Given the description of an element on the screen output the (x, y) to click on. 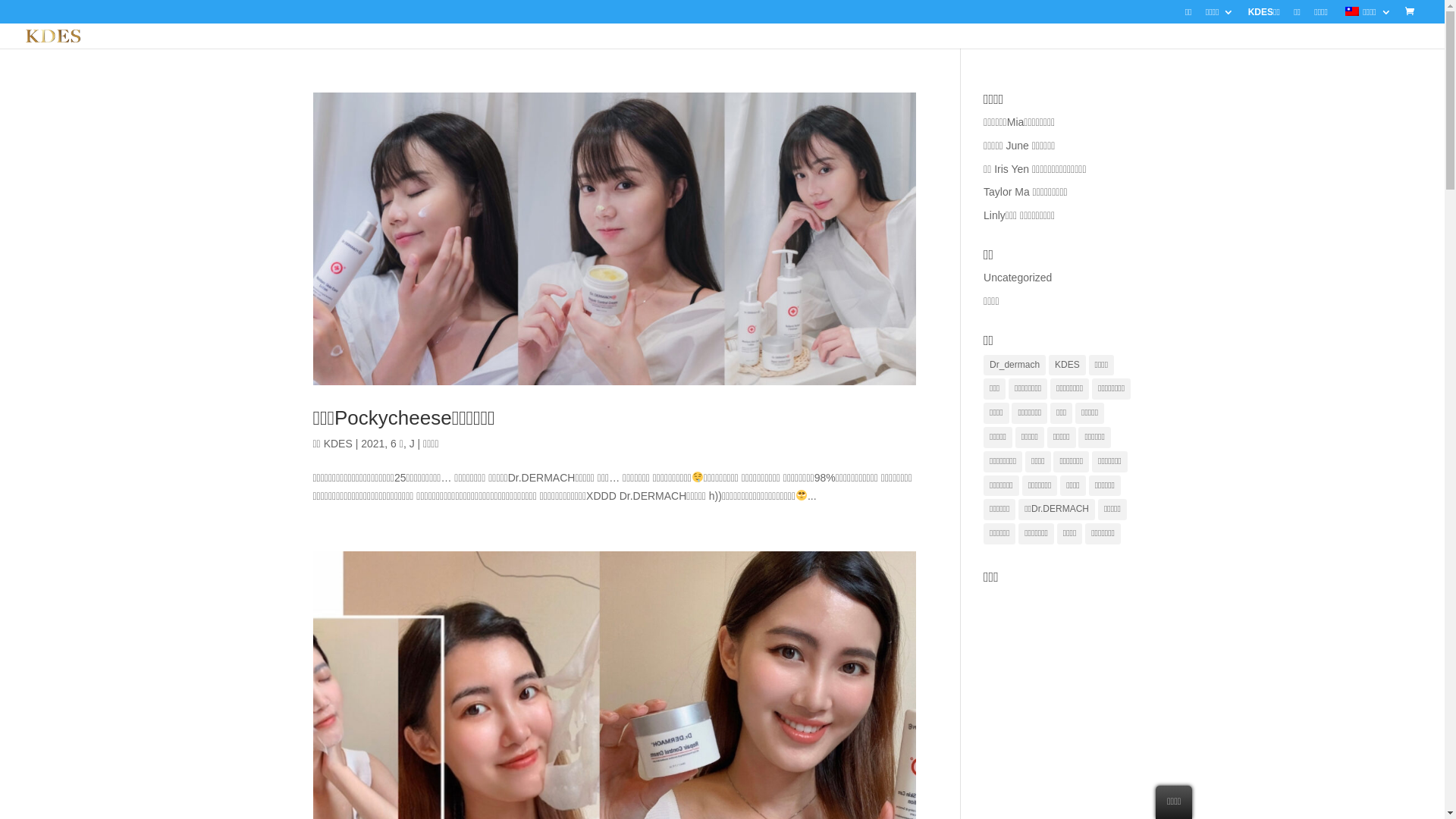
KDES Element type: text (337, 443)
Uncategorized Element type: text (1017, 277)
Dr_dermach Element type: text (1014, 365)
KDES Element type: text (1066, 365)
